Given the description of an element on the screen output the (x, y) to click on. 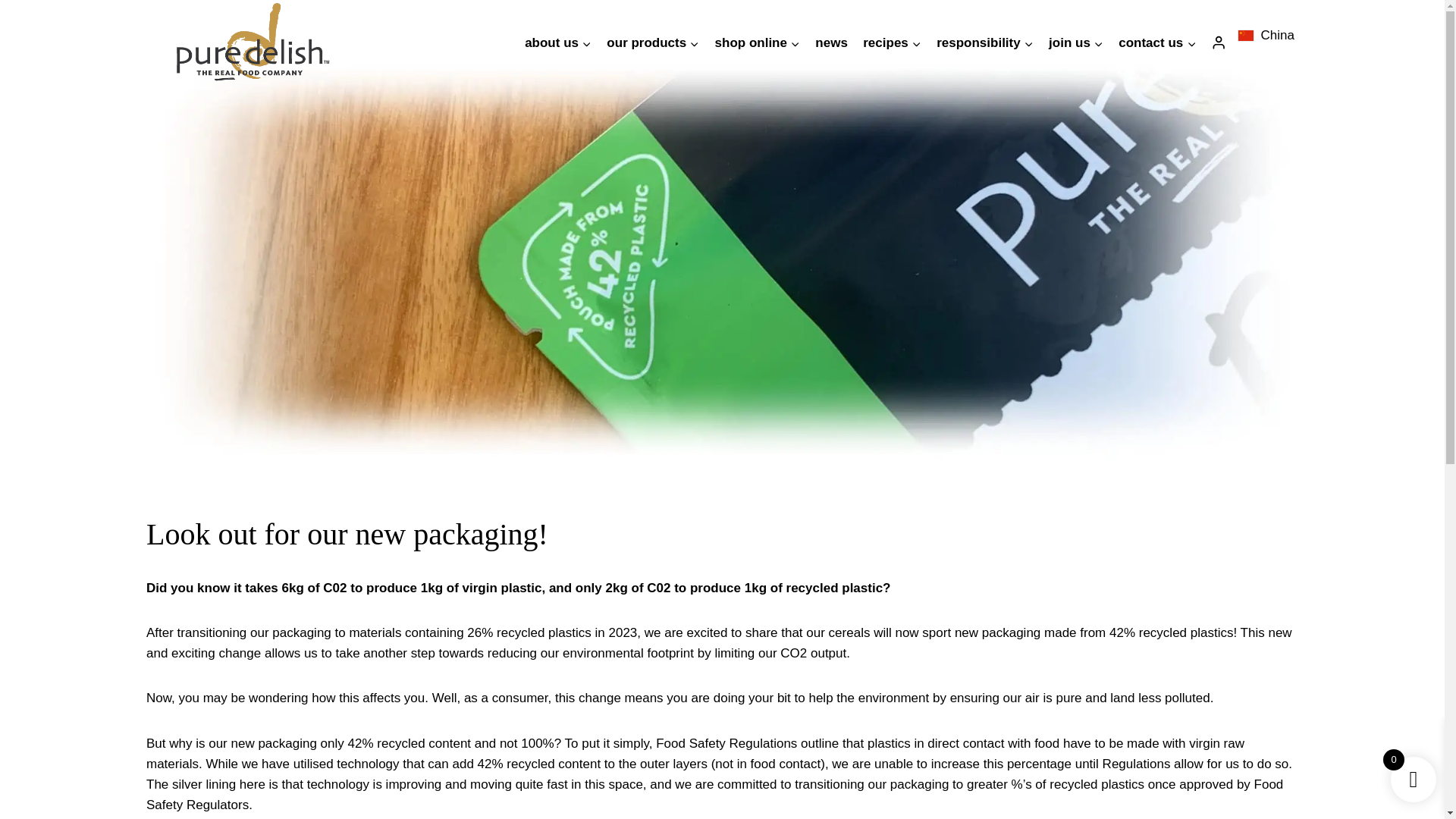
about us (557, 43)
our products (652, 43)
shop online (757, 43)
